Given the description of an element on the screen output the (x, y) to click on. 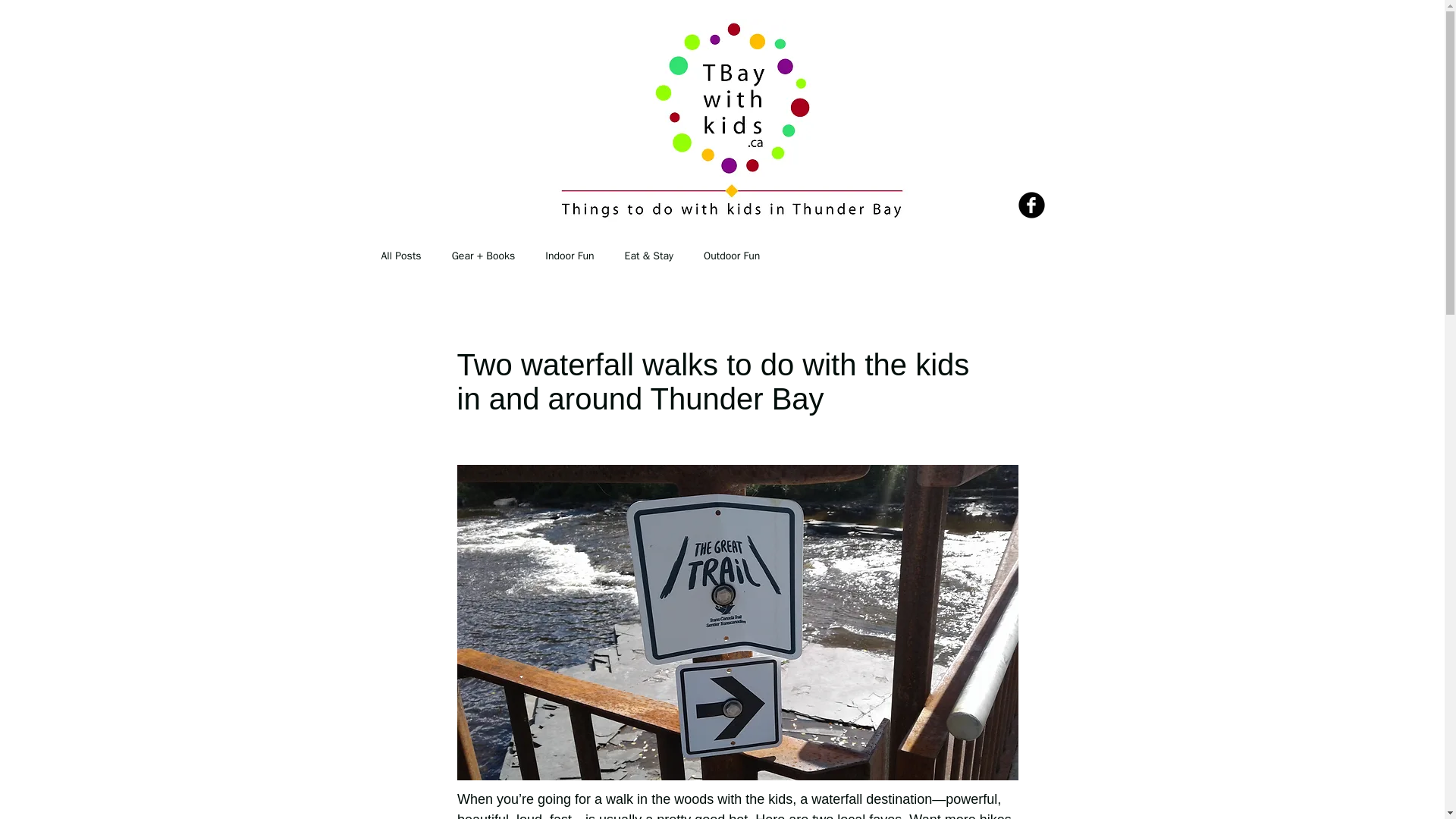
About Us (504, 263)
Outdoor Fun (731, 255)
Blog (865, 263)
All Posts (400, 255)
Indoor Fun (569, 255)
TBay with Kids Website Banner - 885x240 - 800dpi.jpg (731, 120)
Contact (691, 263)
